Given the description of an element on the screen output the (x, y) to click on. 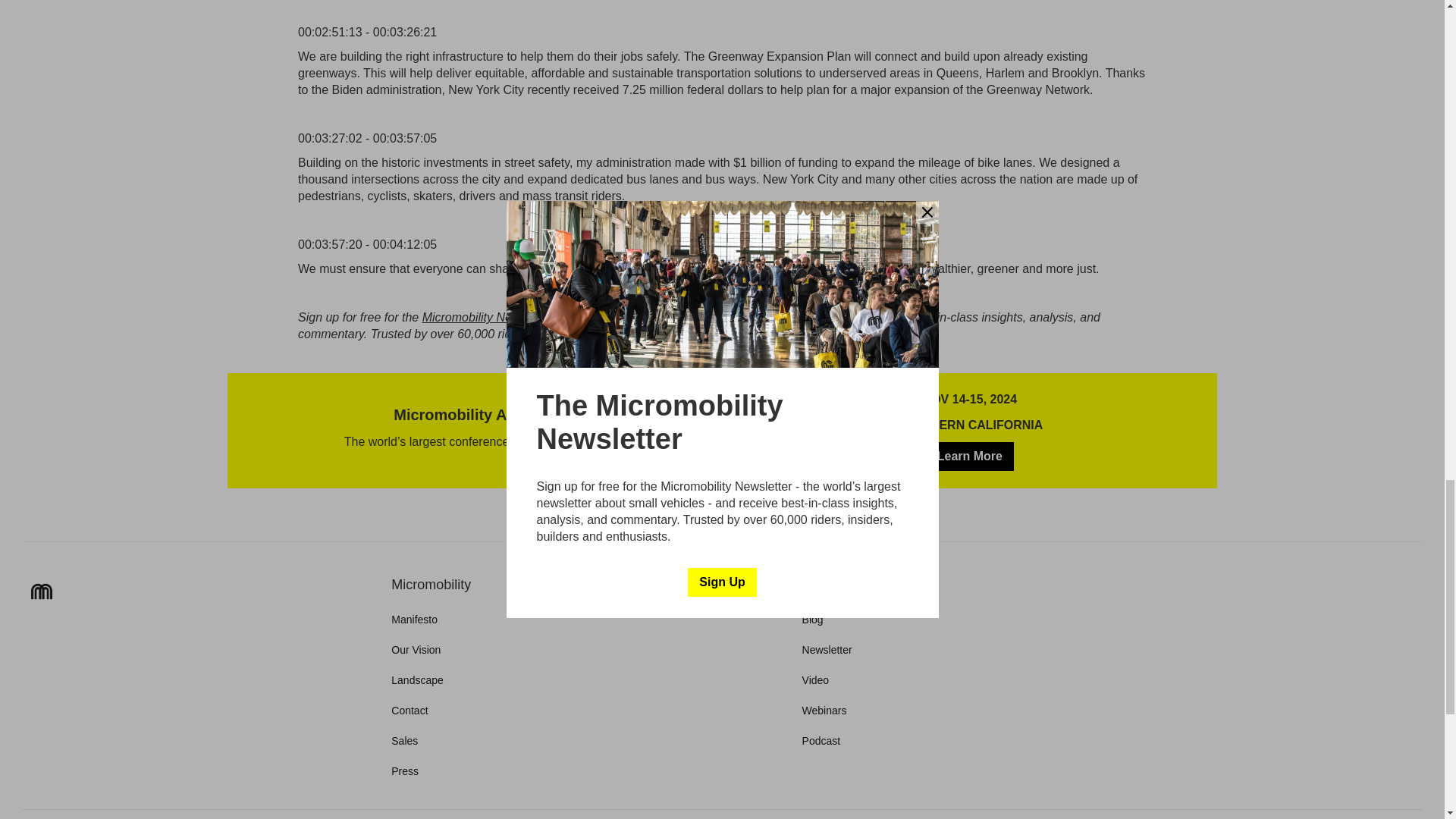
Manifesto (414, 619)
Our Vision (416, 649)
Newsletter (826, 649)
Press (405, 770)
Video (815, 679)
Contact (409, 710)
Podcast (821, 740)
Learn More (969, 456)
Sales (404, 740)
Blog (813, 619)
Webinars (824, 710)
Micromobility Newsletter (487, 317)
Landscape (417, 679)
